Given the description of an element on the screen output the (x, y) to click on. 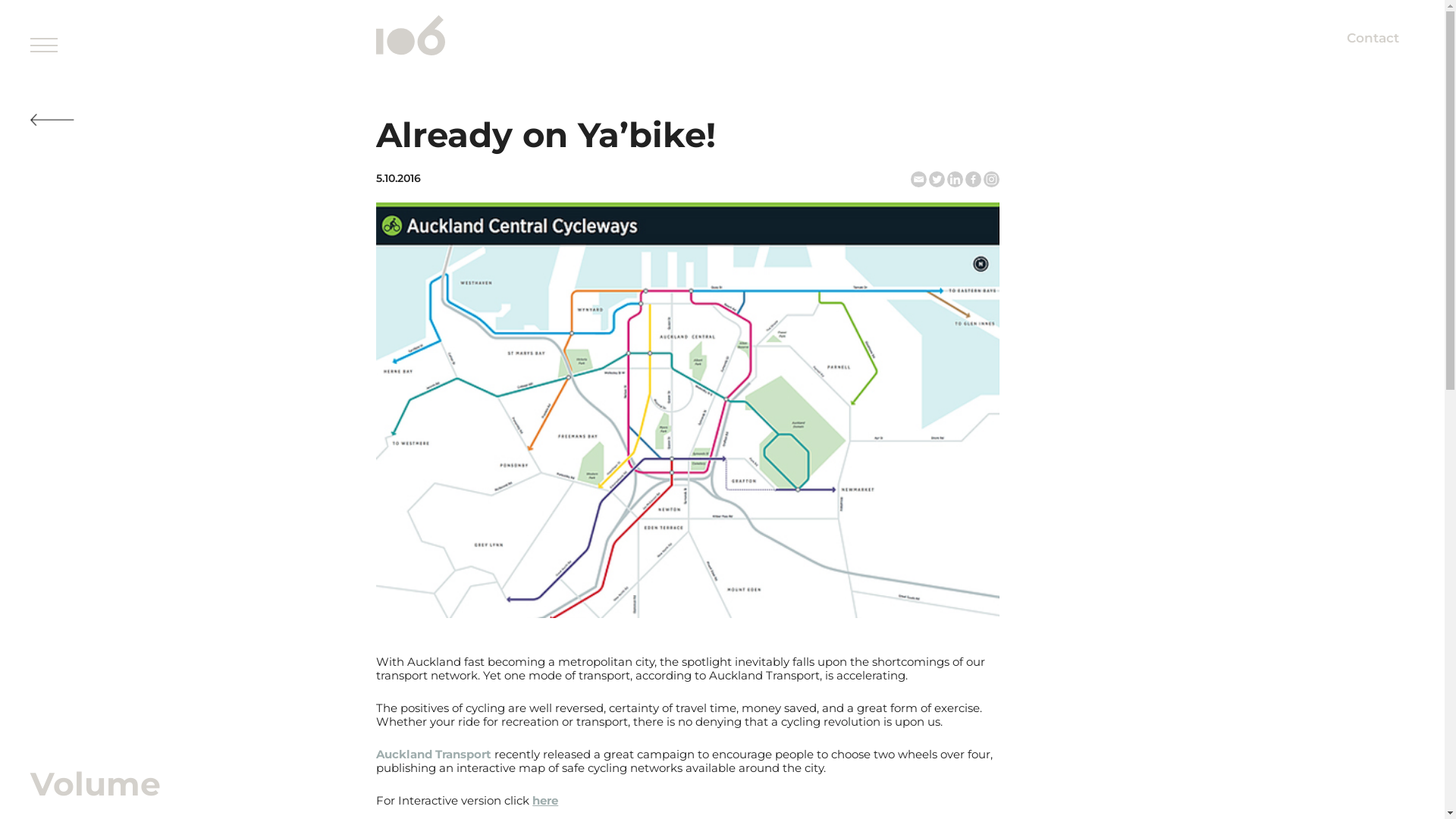
Linkedin Element type: hover (954, 179)
Instagram Element type: hover (990, 179)
Facebook Element type: hover (972, 179)
Email Element type: hover (917, 179)
here Element type: text (545, 800)
Subscribe Element type: text (1380, 52)
Twitter Element type: hover (936, 179)
Contact Element type: text (1372, 37)
Auckland Transport Element type: text (433, 753)
